Given the description of an element on the screen output the (x, y) to click on. 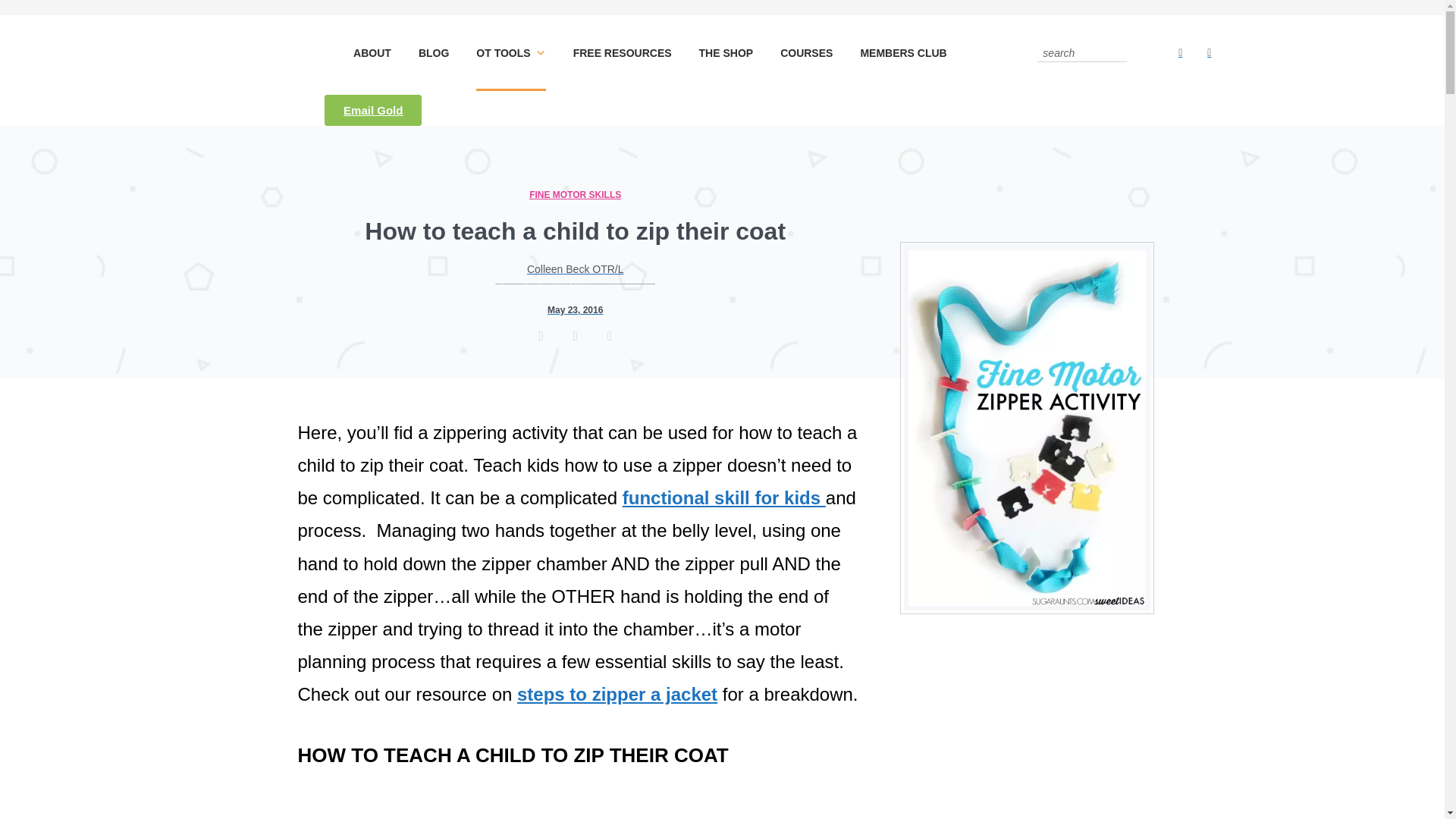
OT TOOLS (510, 52)
